Given the description of an element on the screen output the (x, y) to click on. 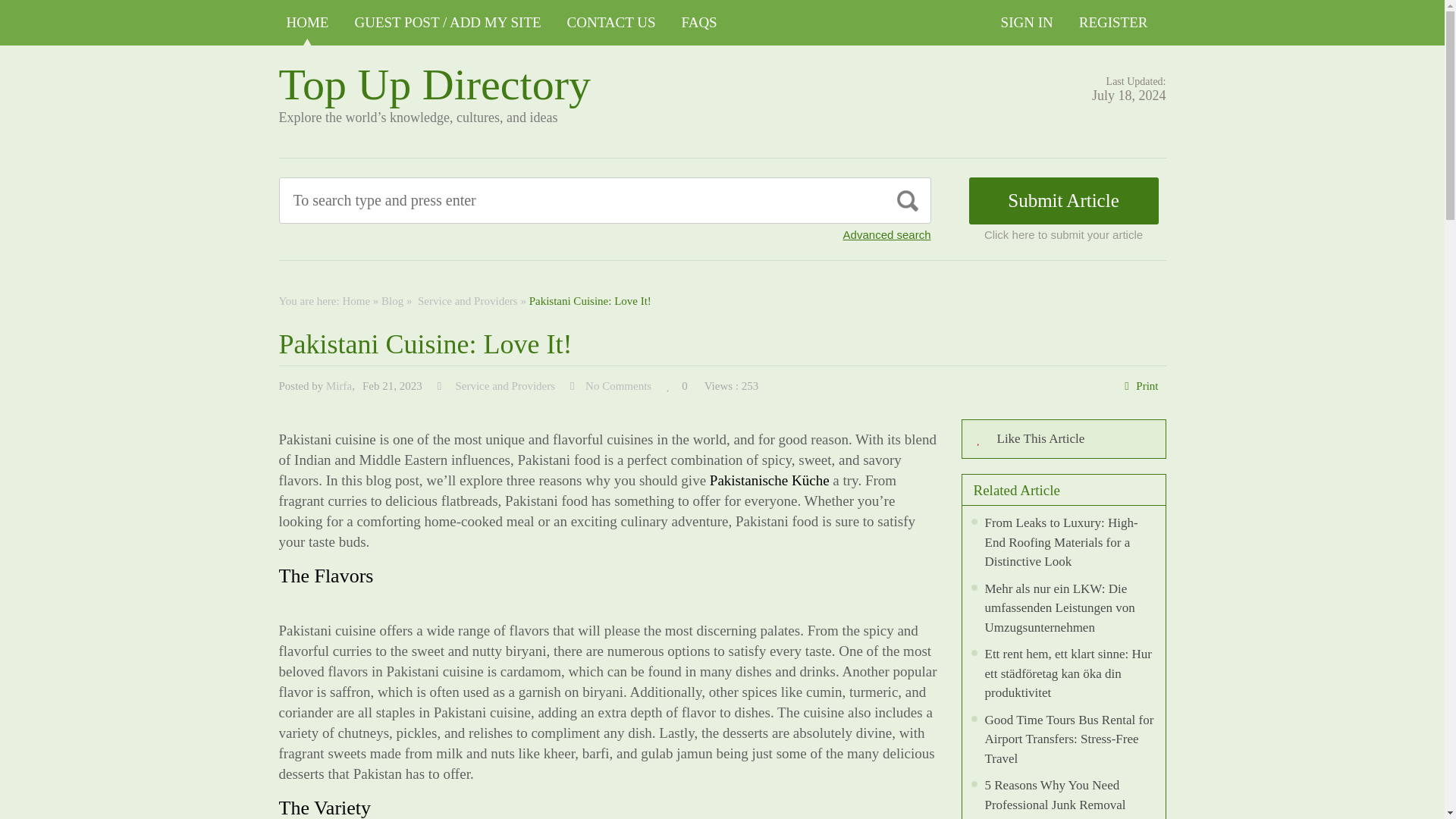
HOME (307, 22)
SIGN IN (1026, 22)
 Service and Providers (503, 386)
 Service and Providers (465, 300)
Submit Article (1063, 200)
Mirfa (339, 386)
Posts by Mirfa (339, 386)
FAQS (699, 22)
Like This Article (1063, 438)
5 Reasons Why You Need Professional Junk Removal Services (1054, 798)
No Comments (617, 386)
CONTACT US (611, 22)
To search type and press enter (535, 200)
